Given the description of an element on the screen output the (x, y) to click on. 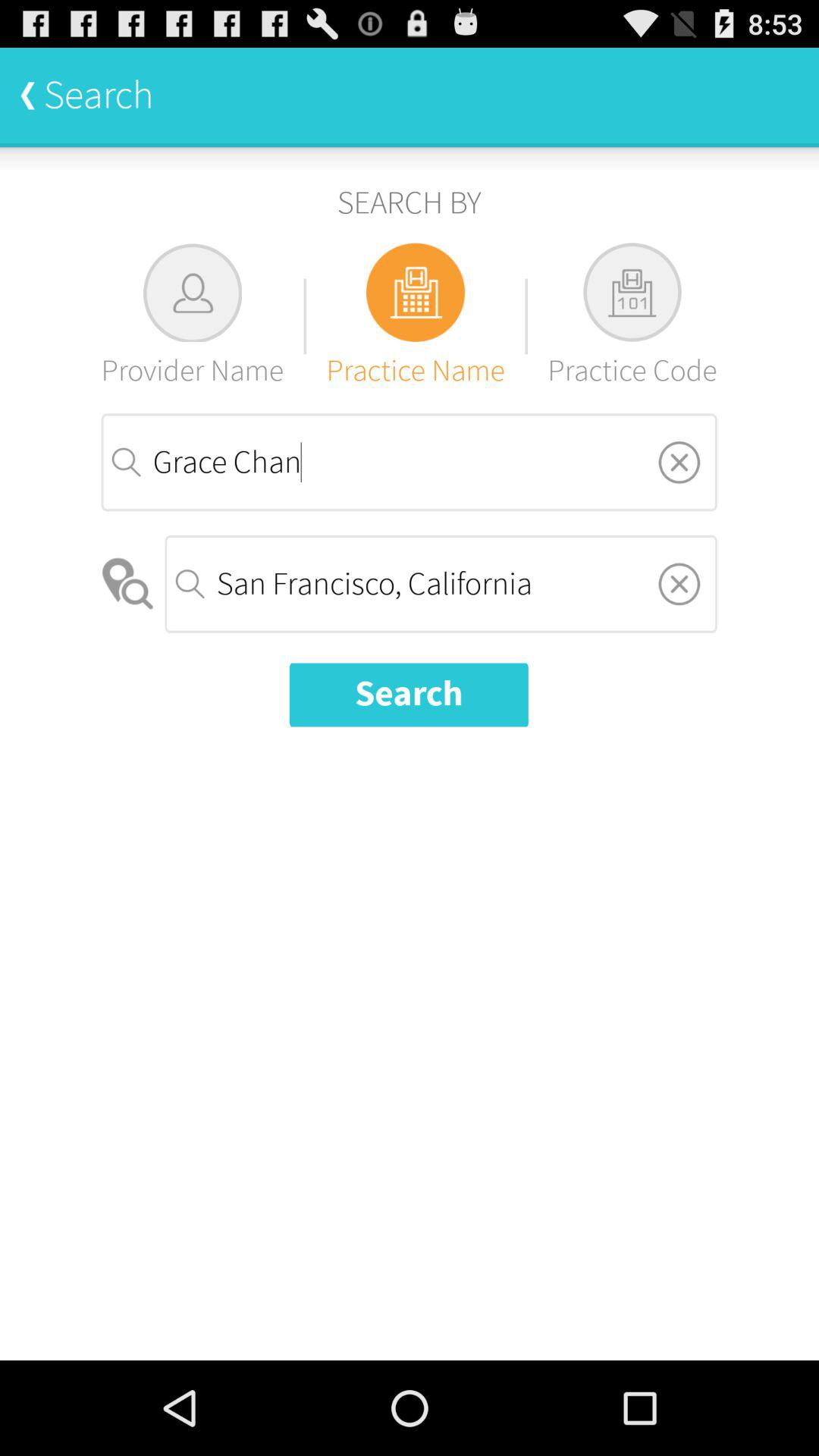
select the icon above grace chan item (415, 315)
